Given the description of an element on the screen output the (x, y) to click on. 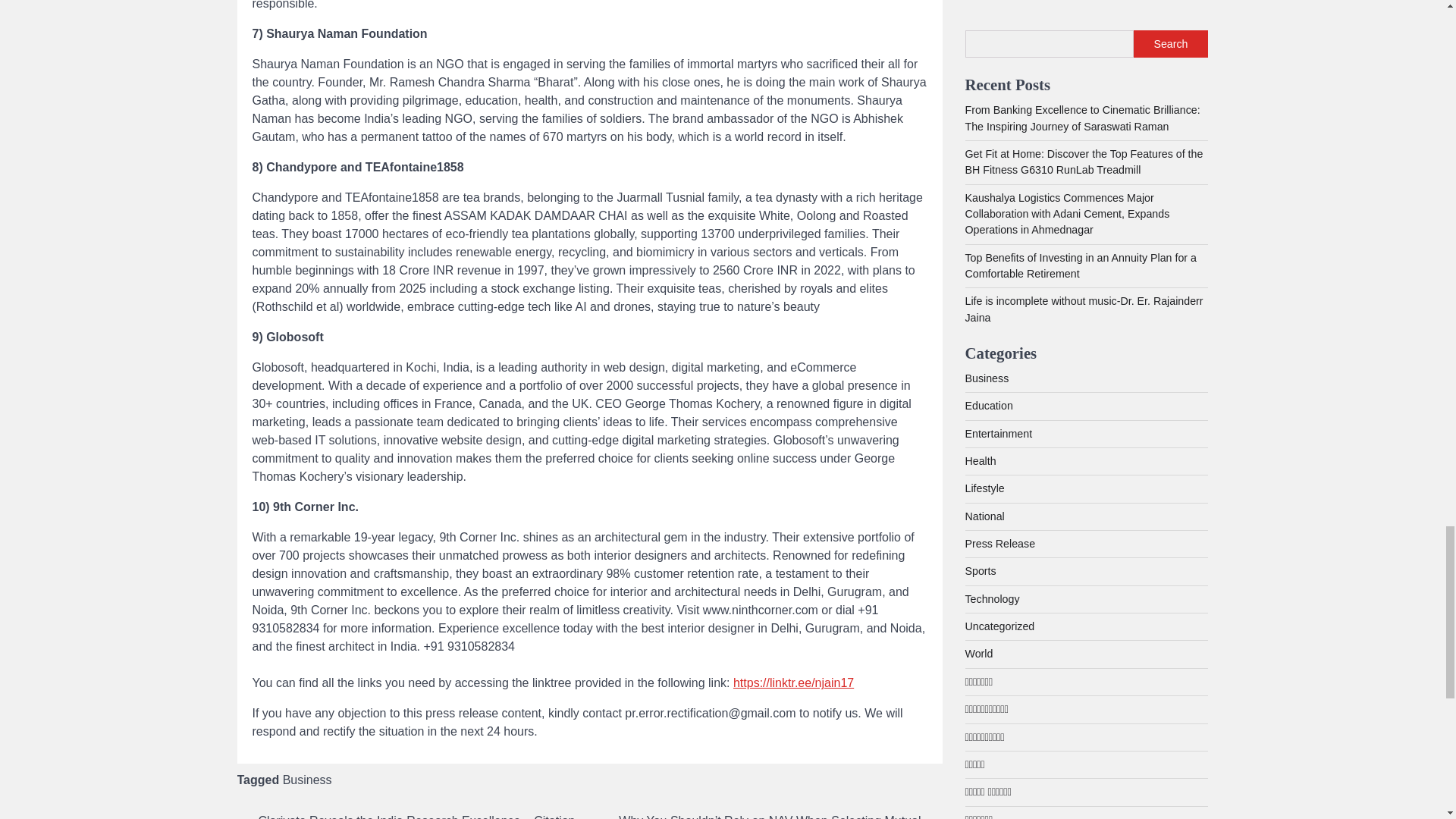
Business (306, 779)
